Given the description of an element on the screen output the (x, y) to click on. 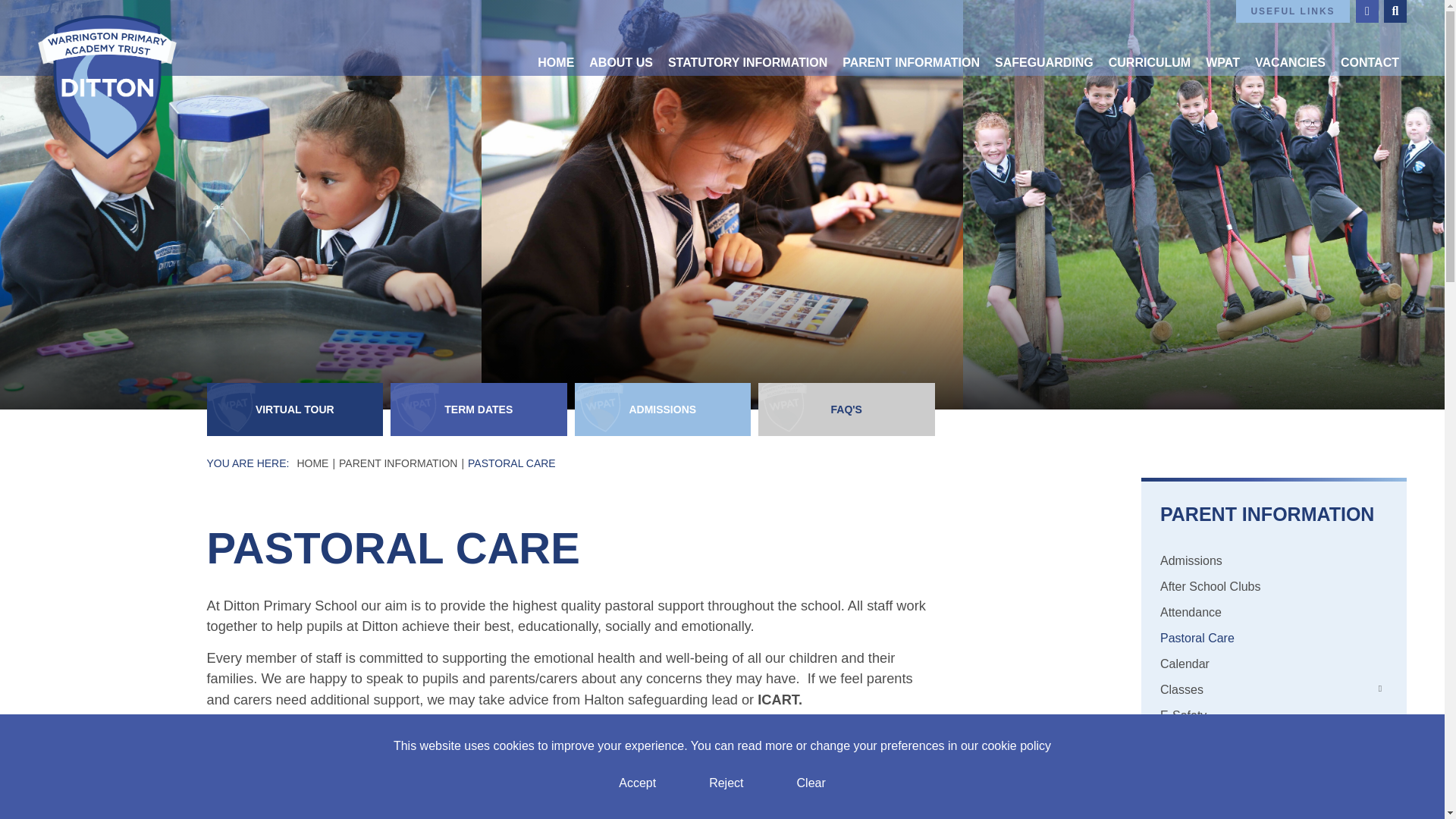
ABOUT US (620, 38)
Parent Information (910, 38)
STATUTORY INFORMATION (747, 38)
PARENT INFORMATION (910, 38)
Statutory Information (747, 38)
About Us (620, 38)
